Given the description of an element on the screen output the (x, y) to click on. 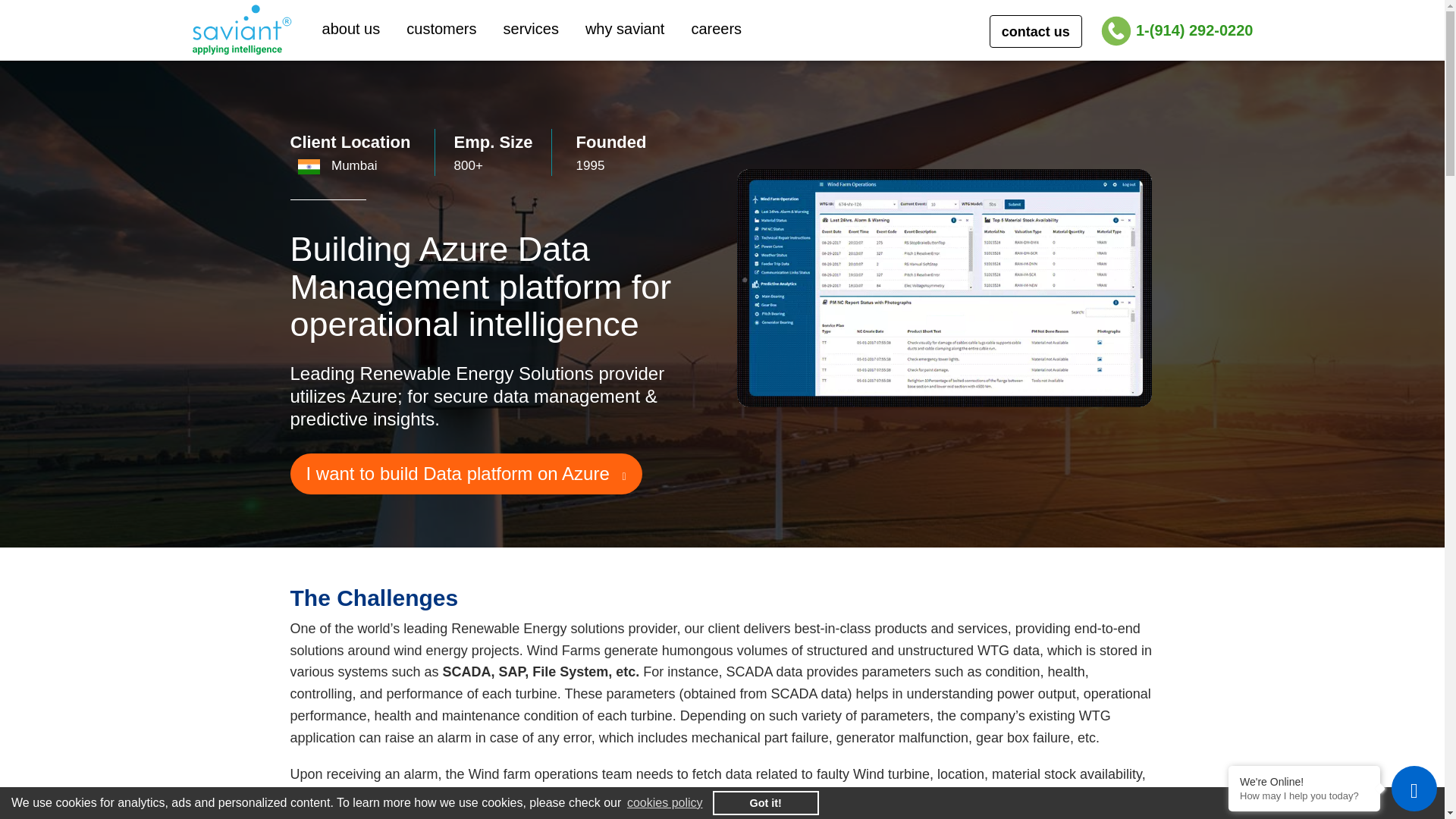
We're Online! (1304, 781)
Got it! (765, 802)
How may I help you today? (1304, 795)
cookies policy (664, 802)
